Given the description of an element on the screen output the (x, y) to click on. 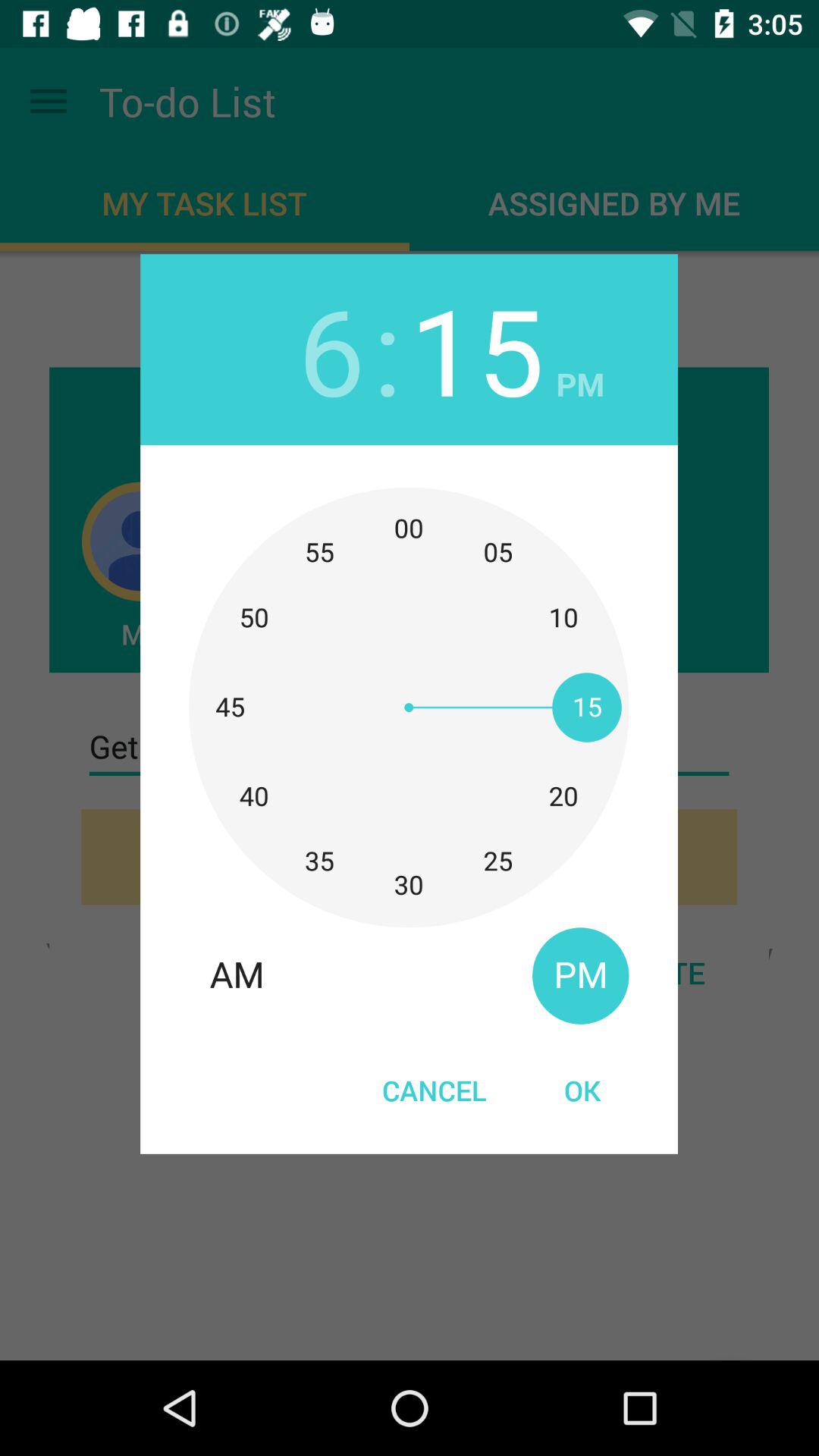
turn on the cancel at the bottom (434, 1090)
